Given the description of an element on the screen output the (x, y) to click on. 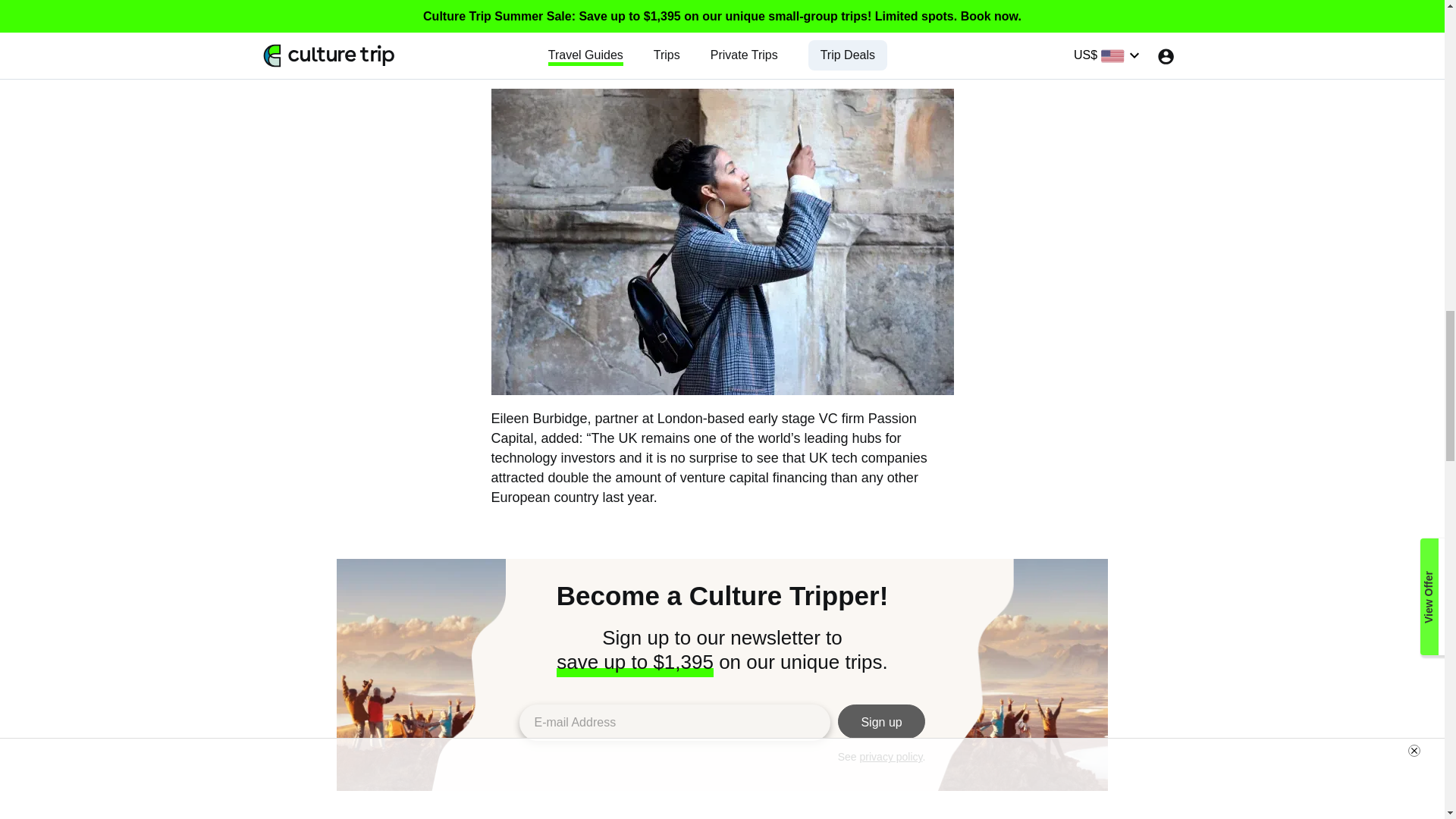
privacy policy (891, 756)
Sign up (882, 721)
